Given the description of an element on the screen output the (x, y) to click on. 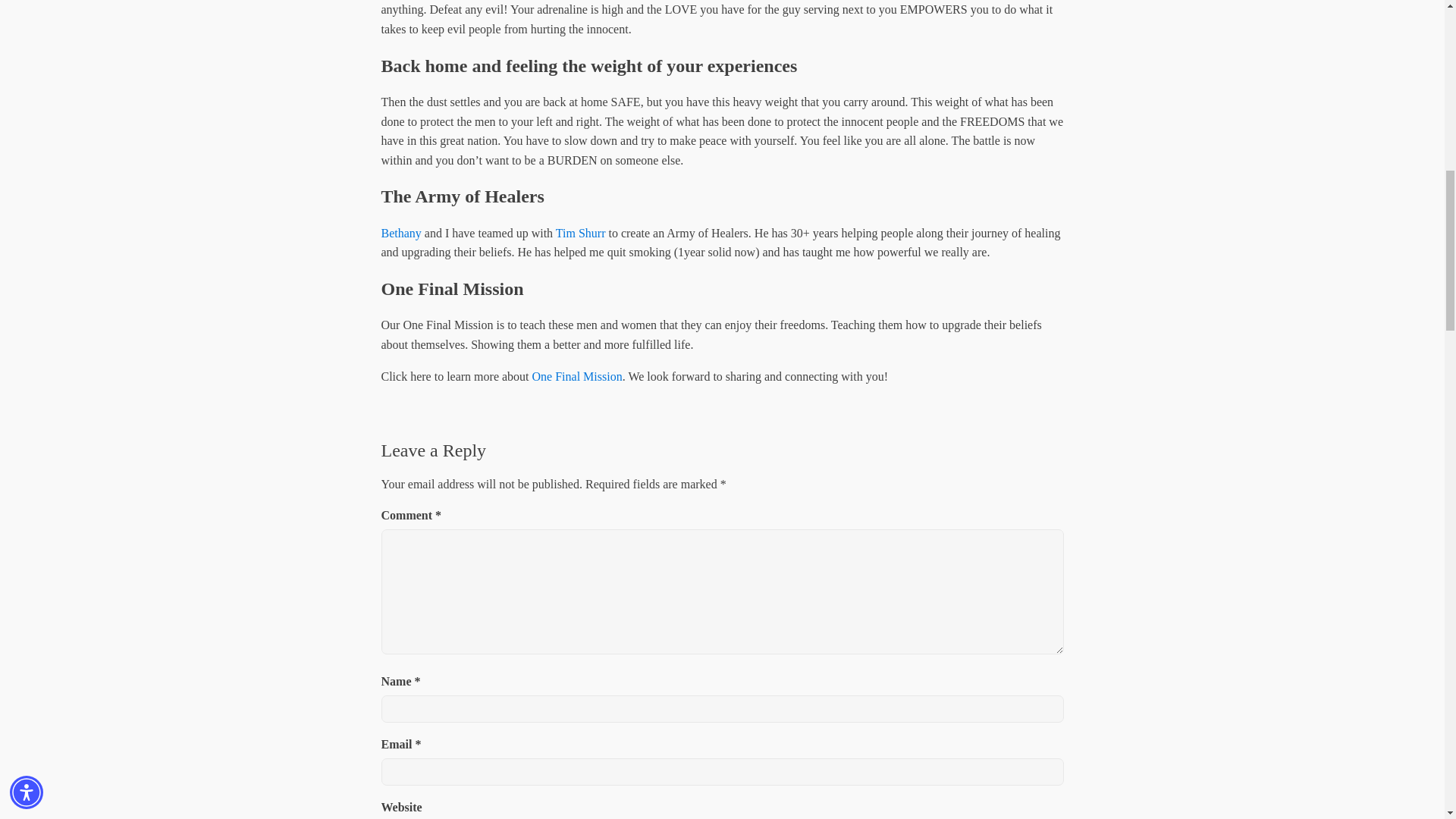
Bethany (400, 232)
One Final Mission (577, 376)
Tim Shurr (580, 232)
